Given the description of an element on the screen output the (x, y) to click on. 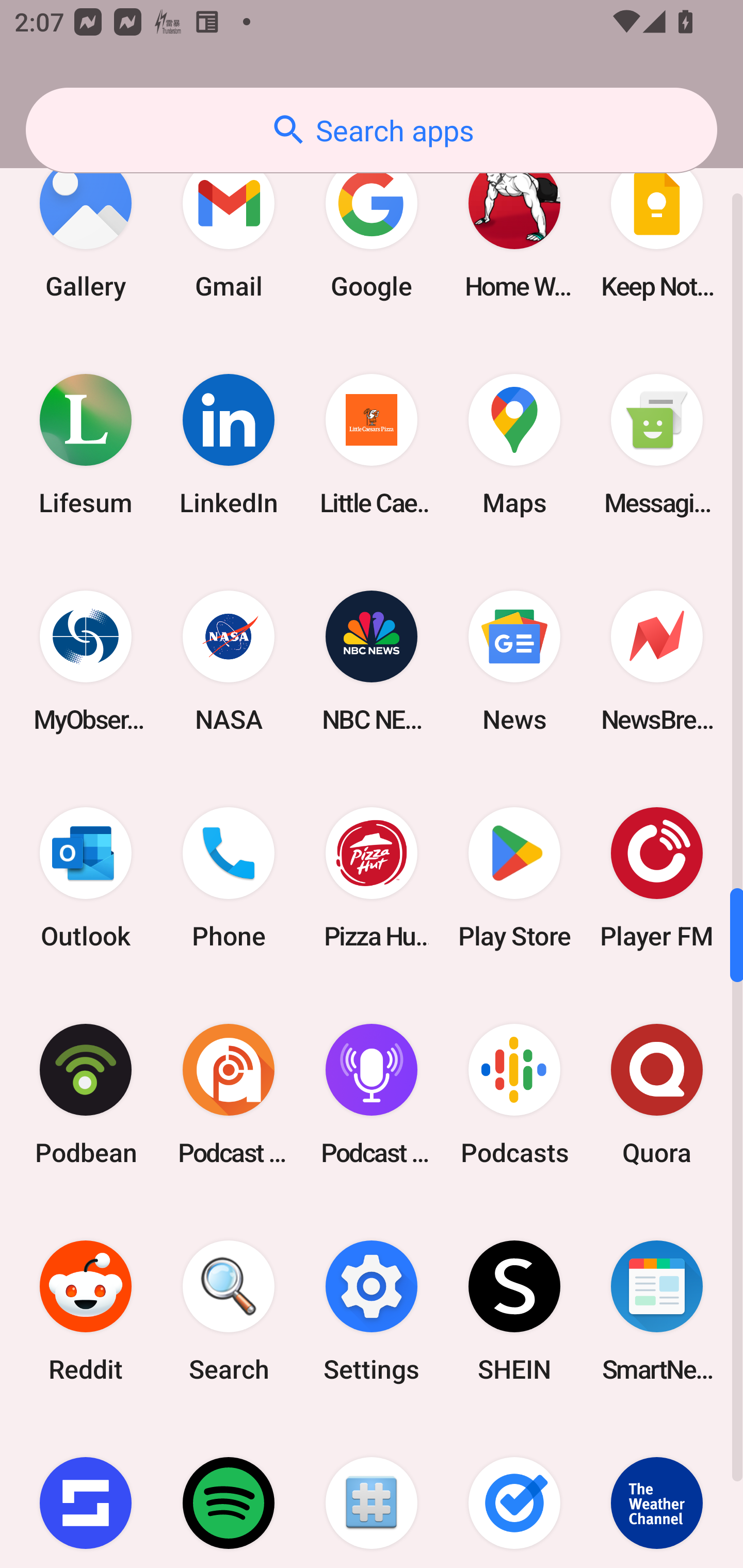
  Search apps (371, 130)
Gallery (85, 227)
Gmail (228, 227)
Google (371, 227)
Home Workout (514, 227)
Keep Notes (656, 227)
Lifesum (85, 444)
LinkedIn (228, 444)
Little Caesars Pizza (371, 444)
Maps (514, 444)
Messaging (656, 444)
MyObservatory (85, 661)
NASA (228, 661)
NBC NEWS (371, 661)
News (514, 661)
NewsBreak (656, 661)
Outlook (85, 877)
Phone (228, 877)
Pizza Hut HK & Macau (371, 877)
Play Store (514, 877)
Player FM (656, 877)
Podbean (85, 1094)
Podcast Addict (228, 1094)
Podcast Player (371, 1094)
Podcasts (514, 1094)
Quora (656, 1094)
Reddit (85, 1310)
Search (228, 1310)
Settings (371, 1310)
SHEIN (514, 1310)
SmartNews (656, 1310)
Sofascore (85, 1493)
Spotify (228, 1493)
Superuser (371, 1493)
Tasks (514, 1493)
The Weather Channel (656, 1493)
